Given the description of an element on the screen output the (x, y) to click on. 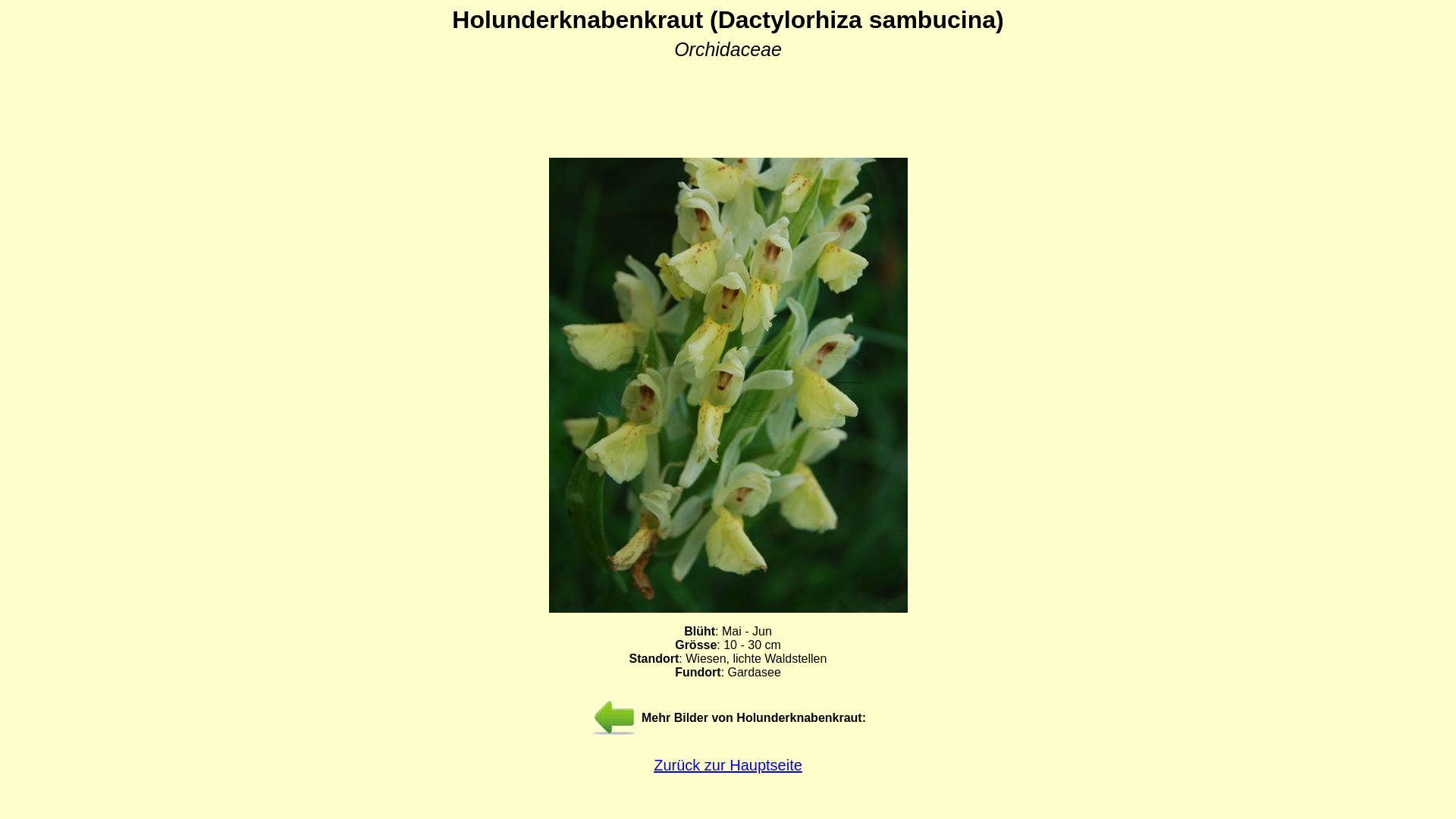
Advertisement Element type: hover (727, 99)
